Given the description of an element on the screen output the (x, y) to click on. 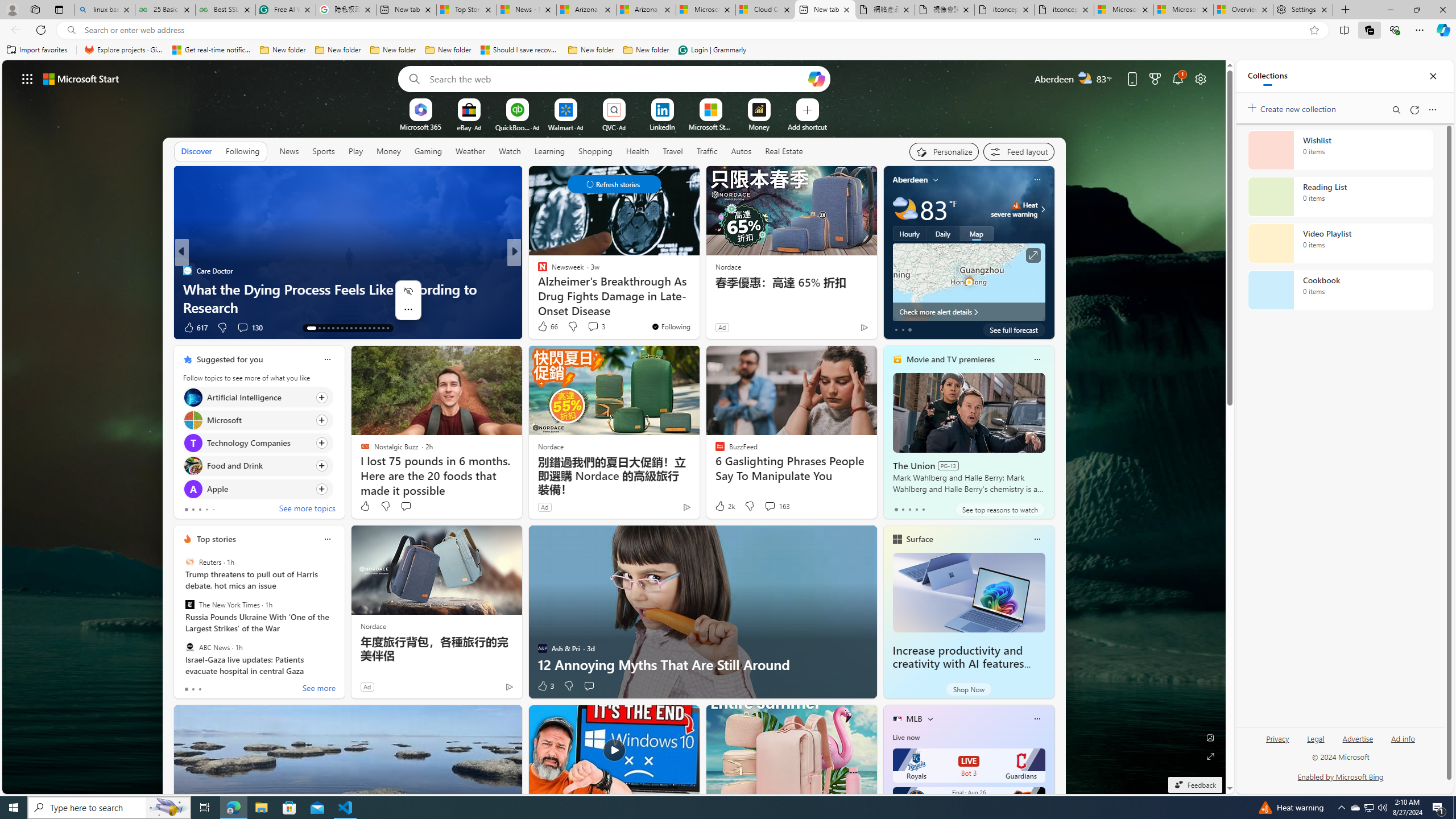
Movie and TV premieres (949, 359)
oceanbluemarine (558, 288)
Body Network (537, 270)
Daily (942, 233)
View comments 163 Comment (770, 505)
Cloud Computing Services | Microsoft Azure (765, 9)
Page settings (1200, 78)
